Given the description of an element on the screen output the (x, y) to click on. 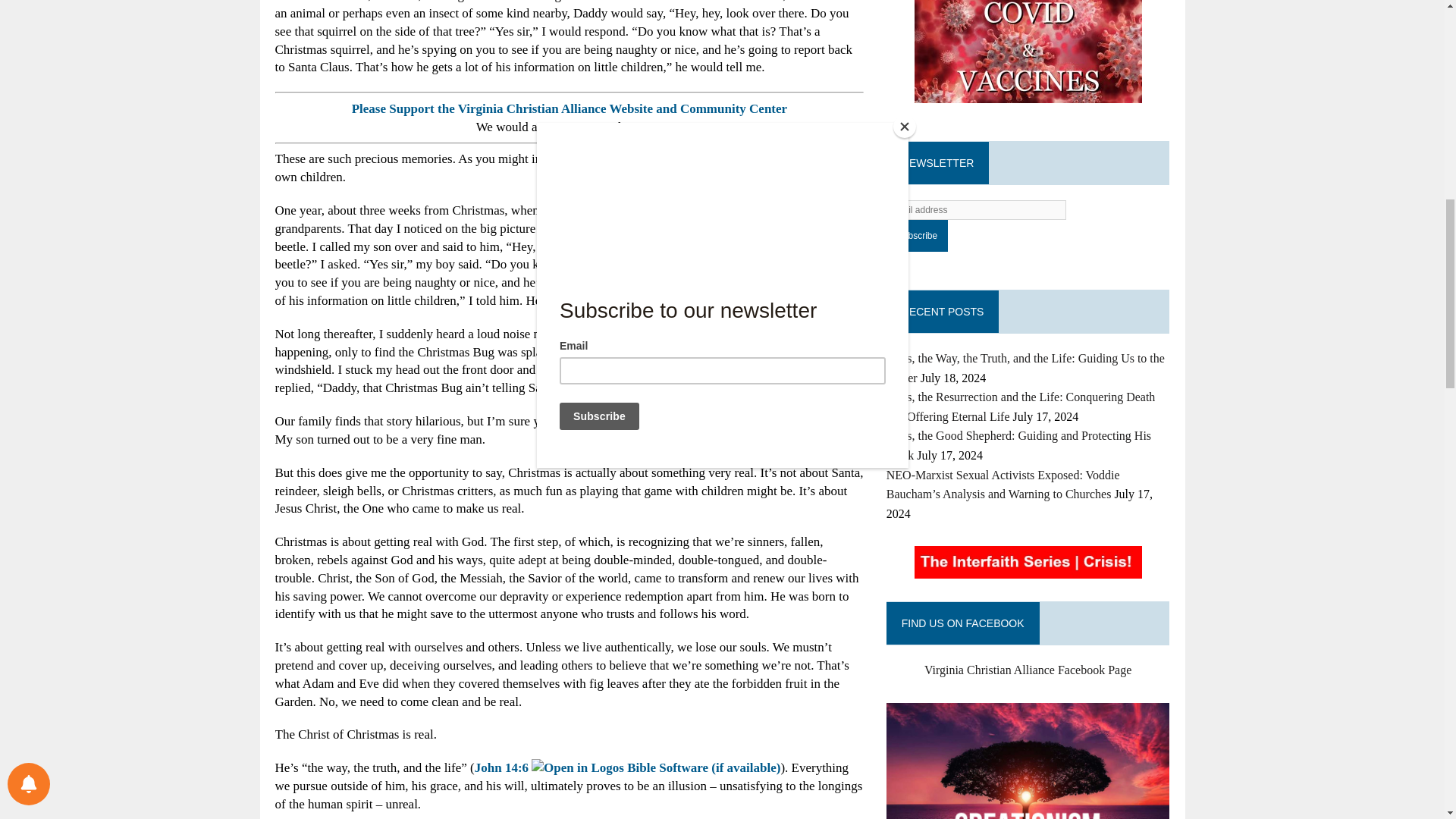
Subscribe (916, 235)
